Given the description of an element on the screen output the (x, y) to click on. 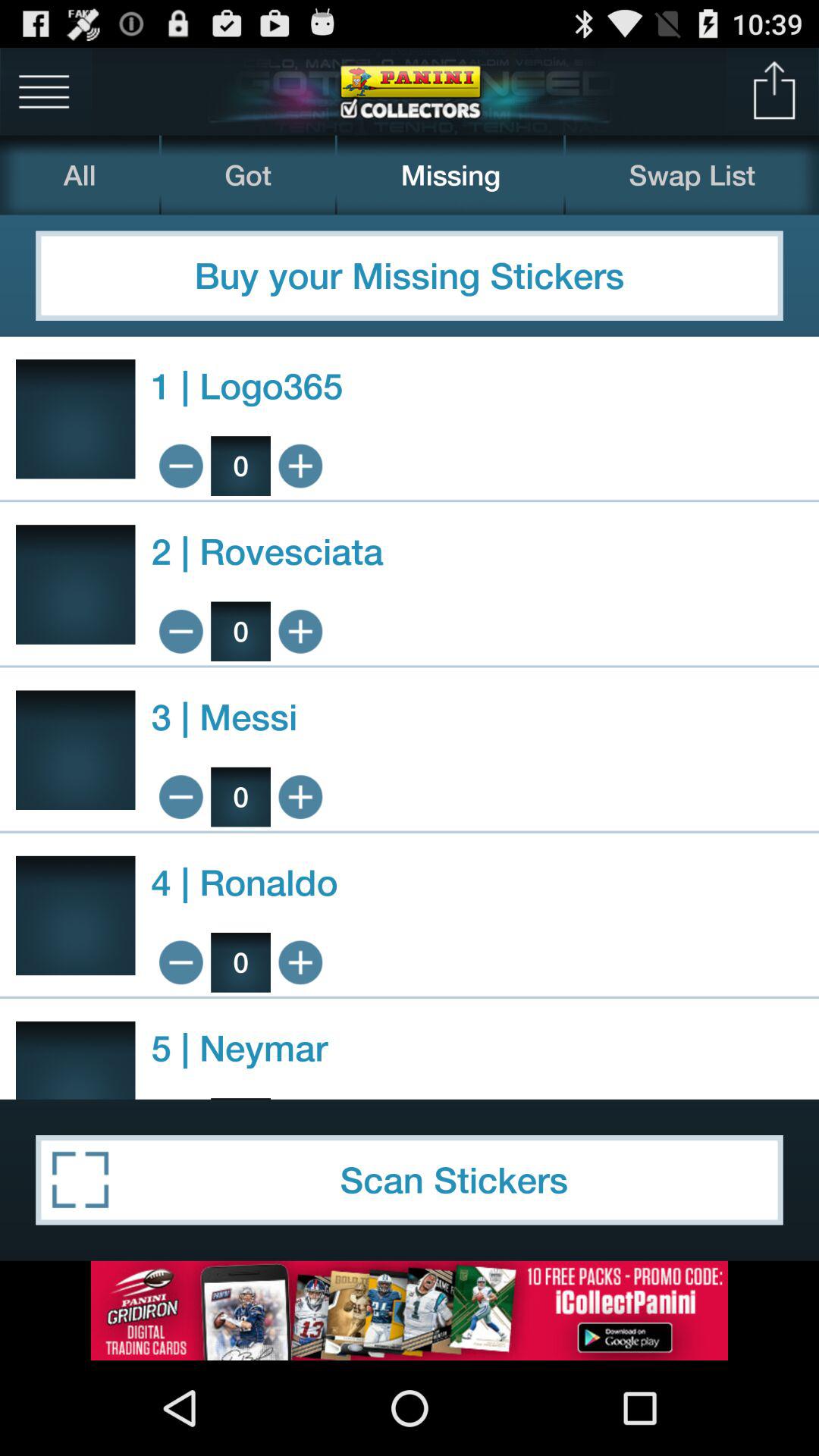
increase button (300, 796)
